Given the description of an element on the screen output the (x, y) to click on. 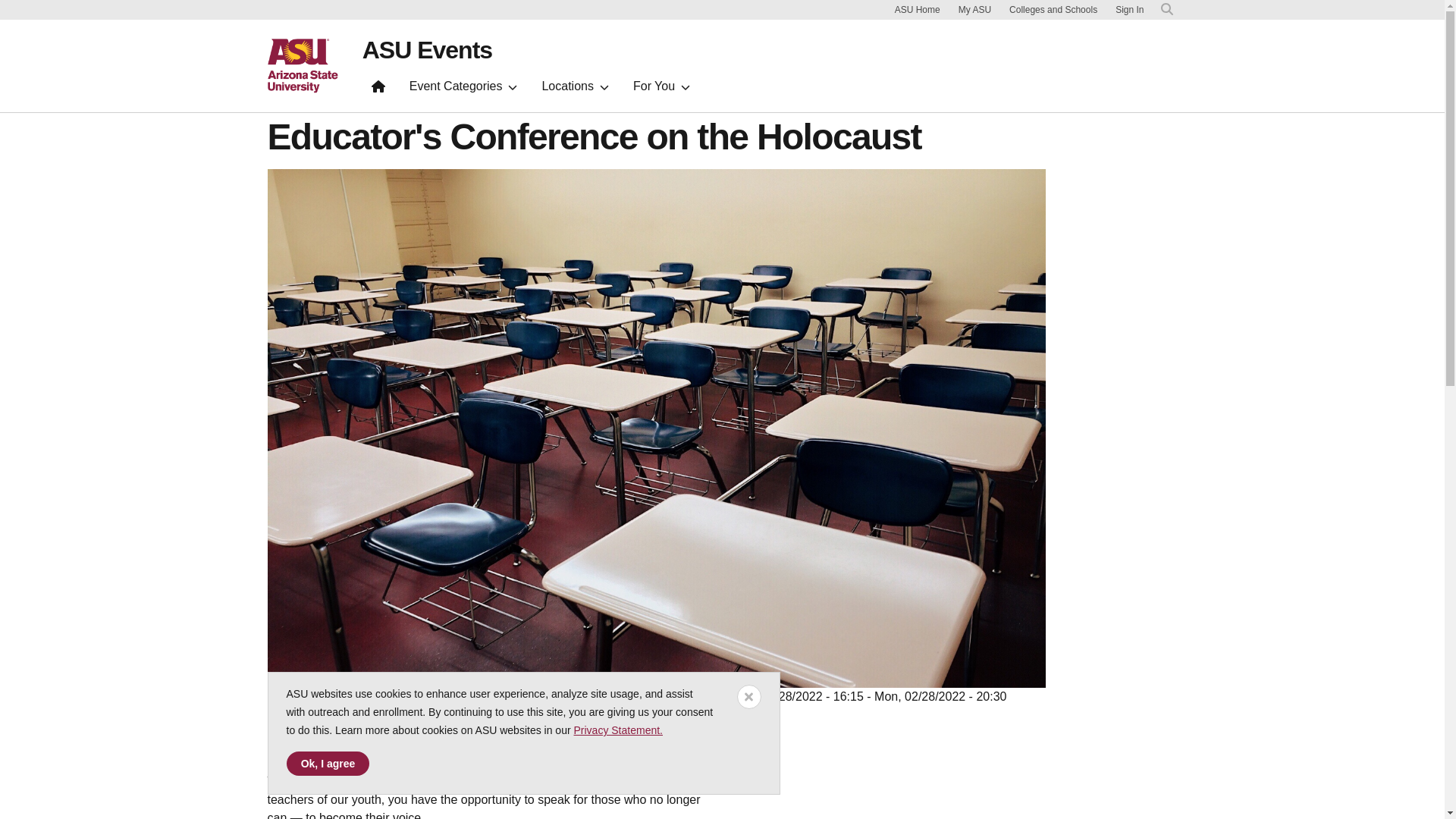
Privacy Statement. (617, 729)
ASU Home (917, 9)
ASU Events home page (378, 89)
Locations (574, 89)
Skip to main content (893, 4)
For You (661, 89)
Locations (574, 89)
Event Categories (463, 89)
ASU home page (301, 65)
Colleges and Schools (1053, 9)
Event Categories (463, 89)
Ok, I agree (327, 763)
ASU Events home page (427, 49)
Sign In (1128, 9)
